Given the description of an element on the screen output the (x, y) to click on. 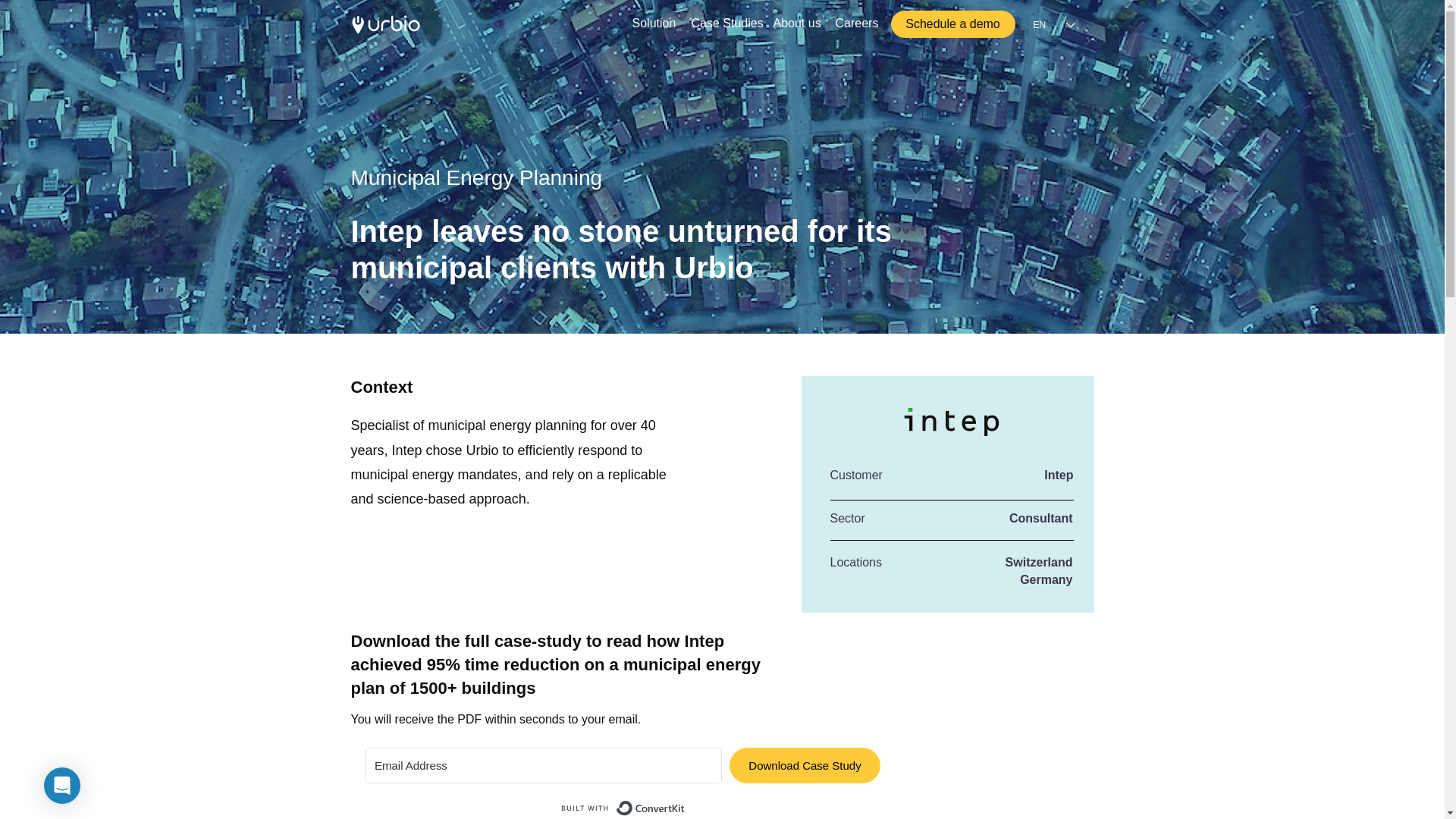
Case Studies (724, 23)
Embedded Content (721, 776)
Careers (855, 23)
Schedule a demo (951, 23)
